Given the description of an element on the screen output the (x, y) to click on. 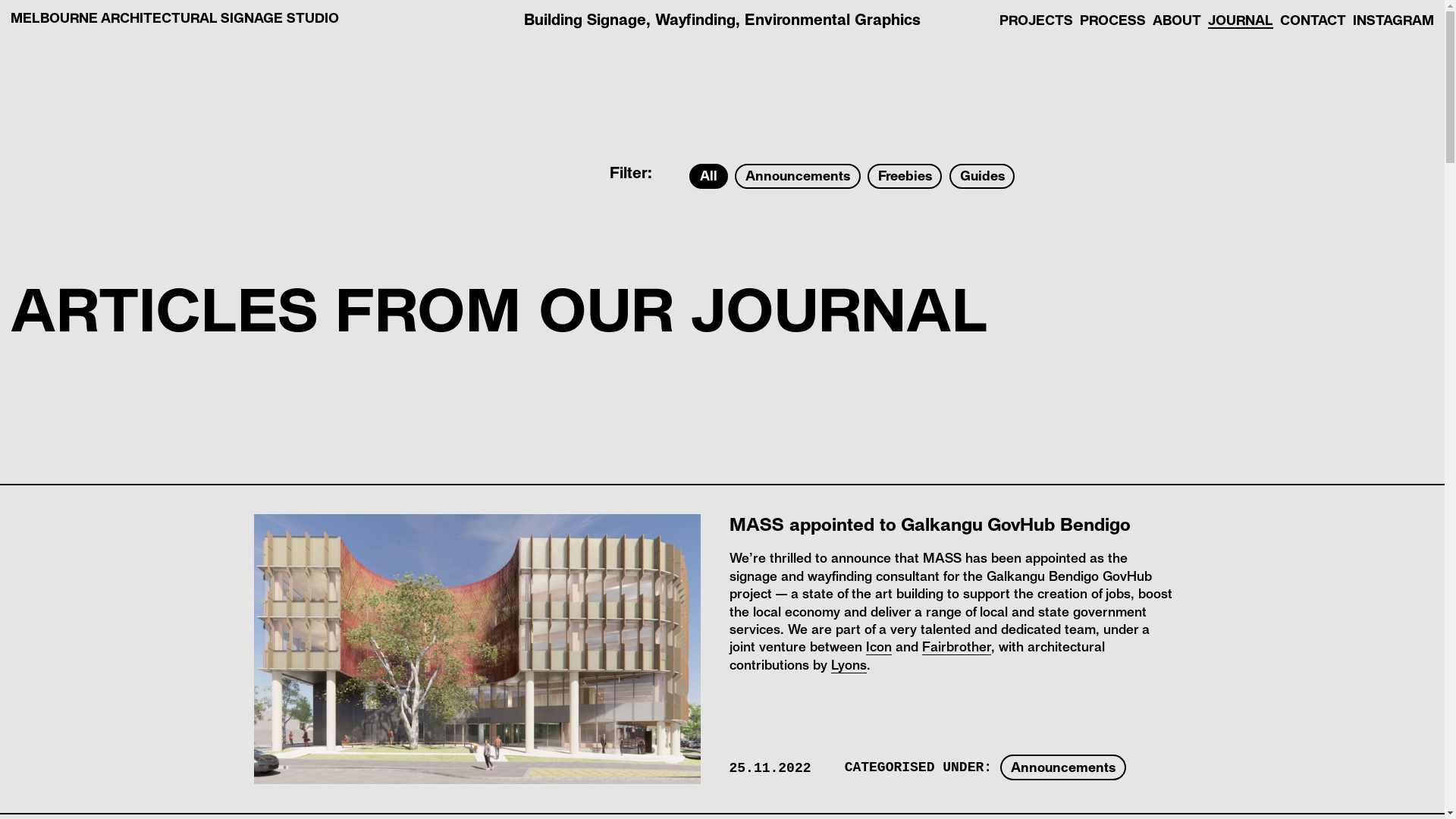
Building Signage Element type: text (585, 18)
ABOUT Element type: text (1176, 19)
All Element type: text (708, 176)
Guides Element type: text (981, 176)
CONTACT Element type: text (1313, 19)
JOURNAL Element type: text (1240, 19)
PROCESS Element type: text (1112, 19)
INSTAGRAM Element type: text (1393, 19)
Freebies Element type: text (904, 176)
Wayfinding Element type: text (695, 18)
Announcements Element type: text (796, 176)
PROJECTS Element type: text (1036, 19)
Environmental Graphics Element type: text (832, 18)
Announcements Element type: text (1062, 767)
Icon Element type: text (878, 646)
Lyons Element type: text (848, 664)
MELBOURNE ARCHITECTURAL SIGNAGE STUDIO Element type: text (174, 17)
Fairbrother Element type: text (956, 646)
